Given the description of an element on the screen output the (x, y) to click on. 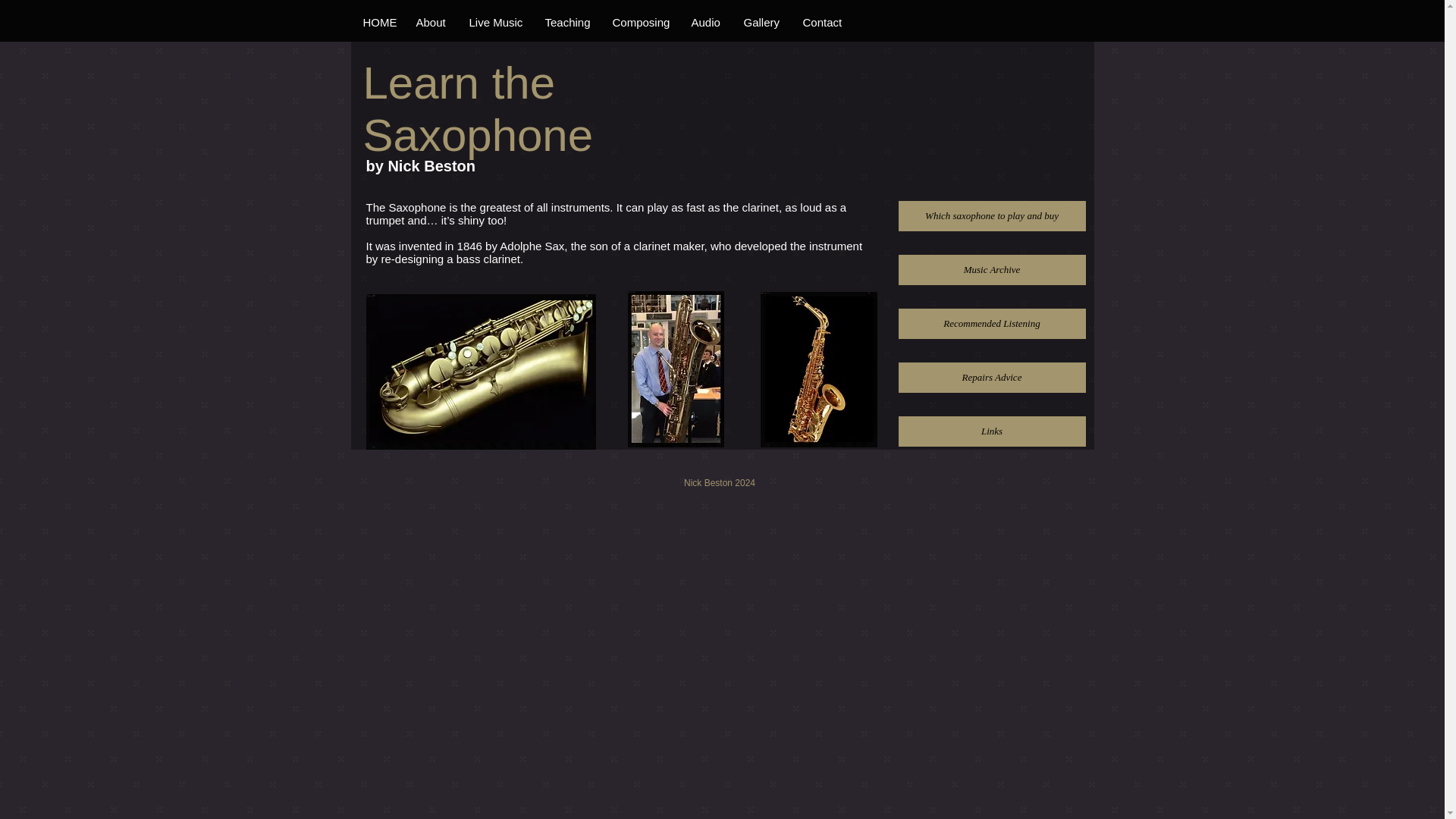
Teaching (565, 22)
Nick Beston 2024 (719, 482)
Gallery (760, 22)
HOME (376, 22)
Live Music (494, 22)
Which saxophone to play and buy (991, 215)
tenor.jpg (480, 371)
Audio (705, 22)
Contact (820, 22)
Composing (639, 22)
